Given the description of an element on the screen output the (x, y) to click on. 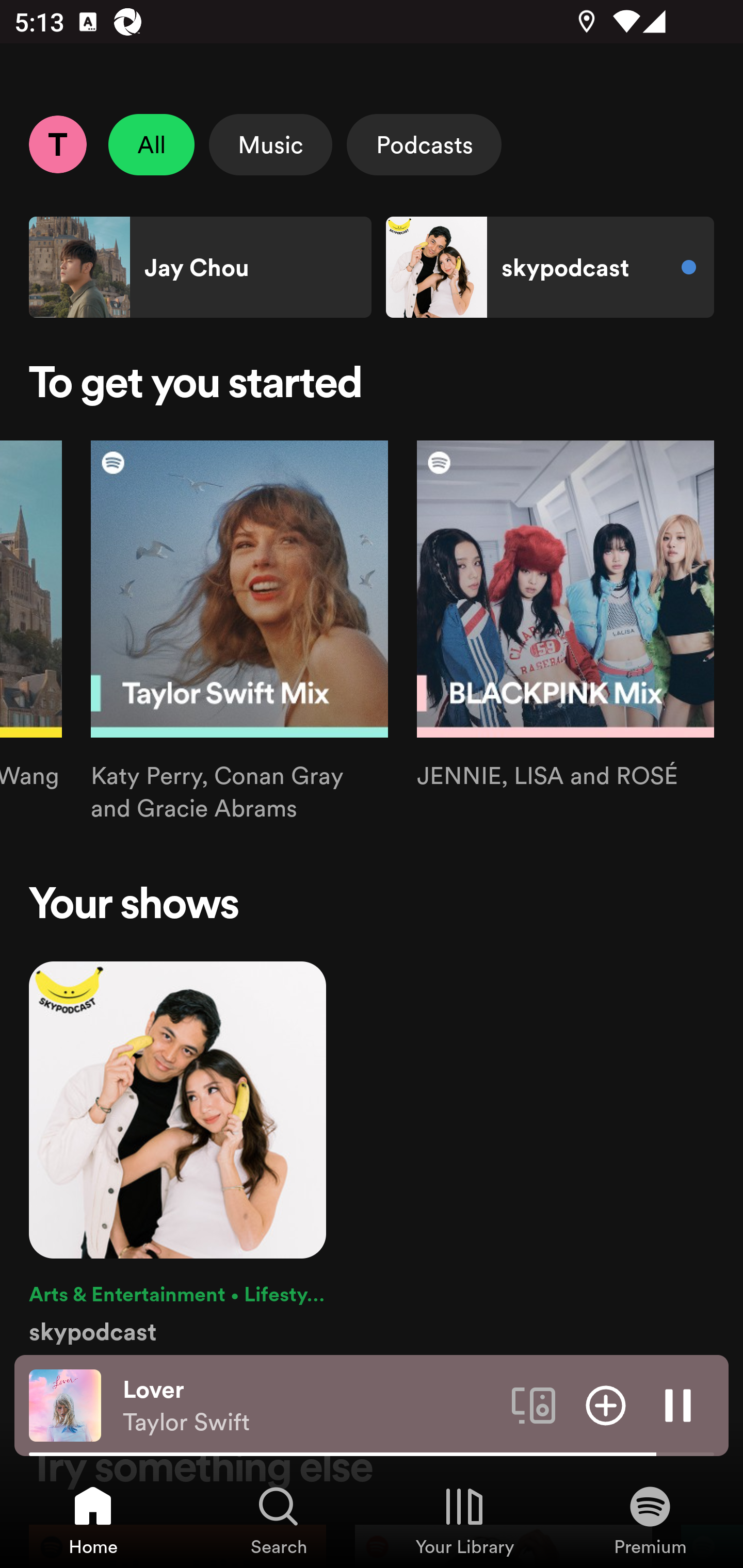
Profile (57, 144)
All Unselect All (151, 144)
Music Select Music (270, 144)
Podcasts Select Podcasts (423, 144)
Jay Chou Shortcut Jay Chou (199, 267)
skypodcast Shortcut skypodcast New content (549, 267)
Lover Taylor Swift (309, 1405)
The cover art of the currently playing track (64, 1404)
Connect to a device. Opens the devices menu (533, 1404)
Add item (605, 1404)
Pause (677, 1404)
Home, Tab 1 of 4 Home Home (92, 1519)
Search, Tab 2 of 4 Search Search (278, 1519)
Your Library, Tab 3 of 4 Your Library Your Library (464, 1519)
Premium, Tab 4 of 4 Premium Premium (650, 1519)
